Given the description of an element on the screen output the (x, y) to click on. 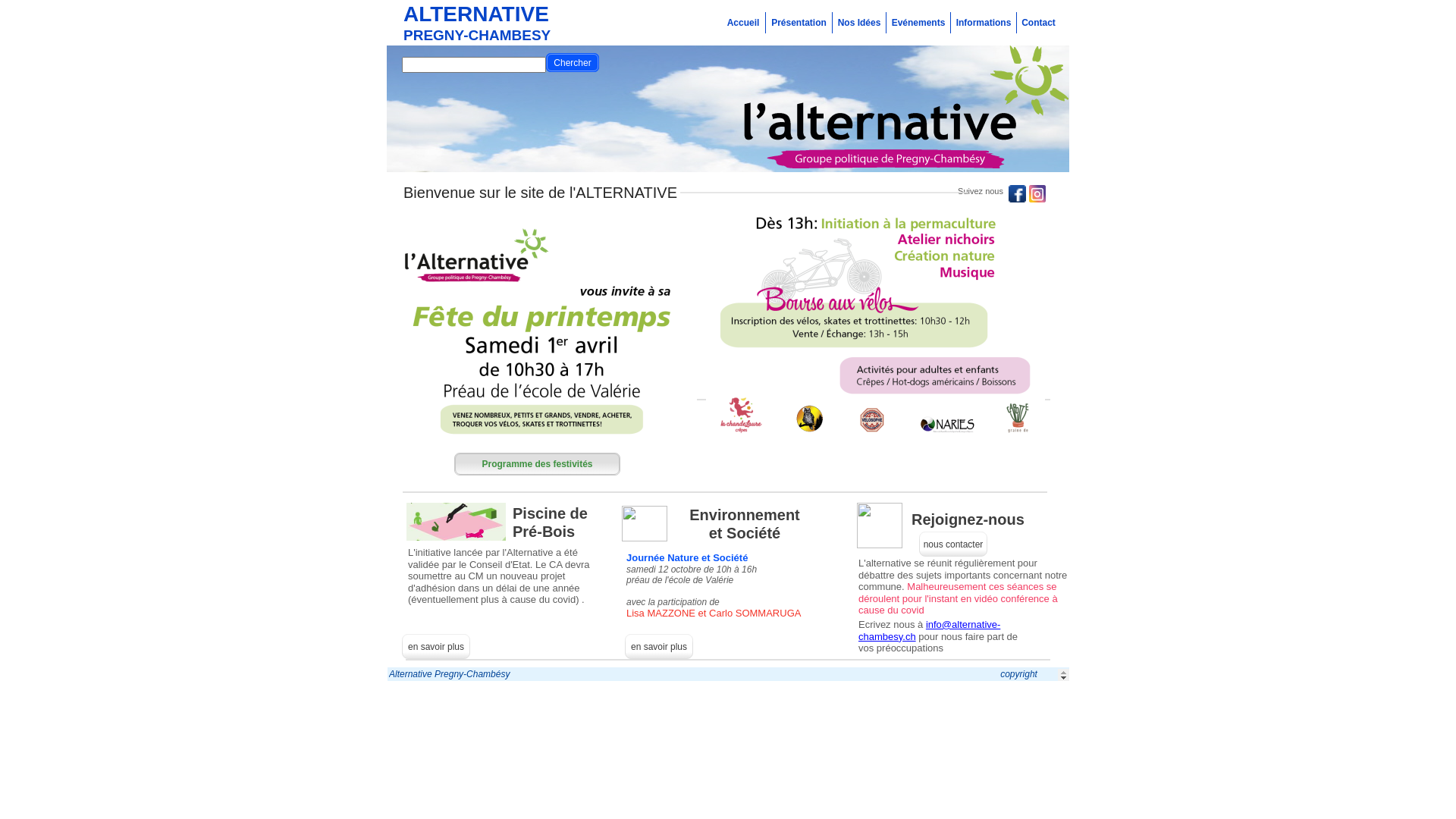
Accueil Element type: text (743, 22)
Accueil Element type: text (743, 22)
en savoir plus Element type: text (435, 646)
en savoir plus Element type: text (658, 646)
info@alternative-chambesy.ch Element type: text (929, 629)
Informations Element type: text (983, 22)
Chercher Element type: text (571, 62)
en savoir plus Element type: text (658, 645)
Chercher Element type: text (572, 62)
Contact Element type: text (1038, 22)
nous contacter Element type: text (953, 543)
  Element type: text (387, 671)
Contact Element type: text (1038, 22)
nous contacter Element type: text (953, 543)
  Element type: text (387, 6)
en savoir plus Element type: text (435, 645)
Informations Element type: text (983, 22)
